Given the description of an element on the screen output the (x, y) to click on. 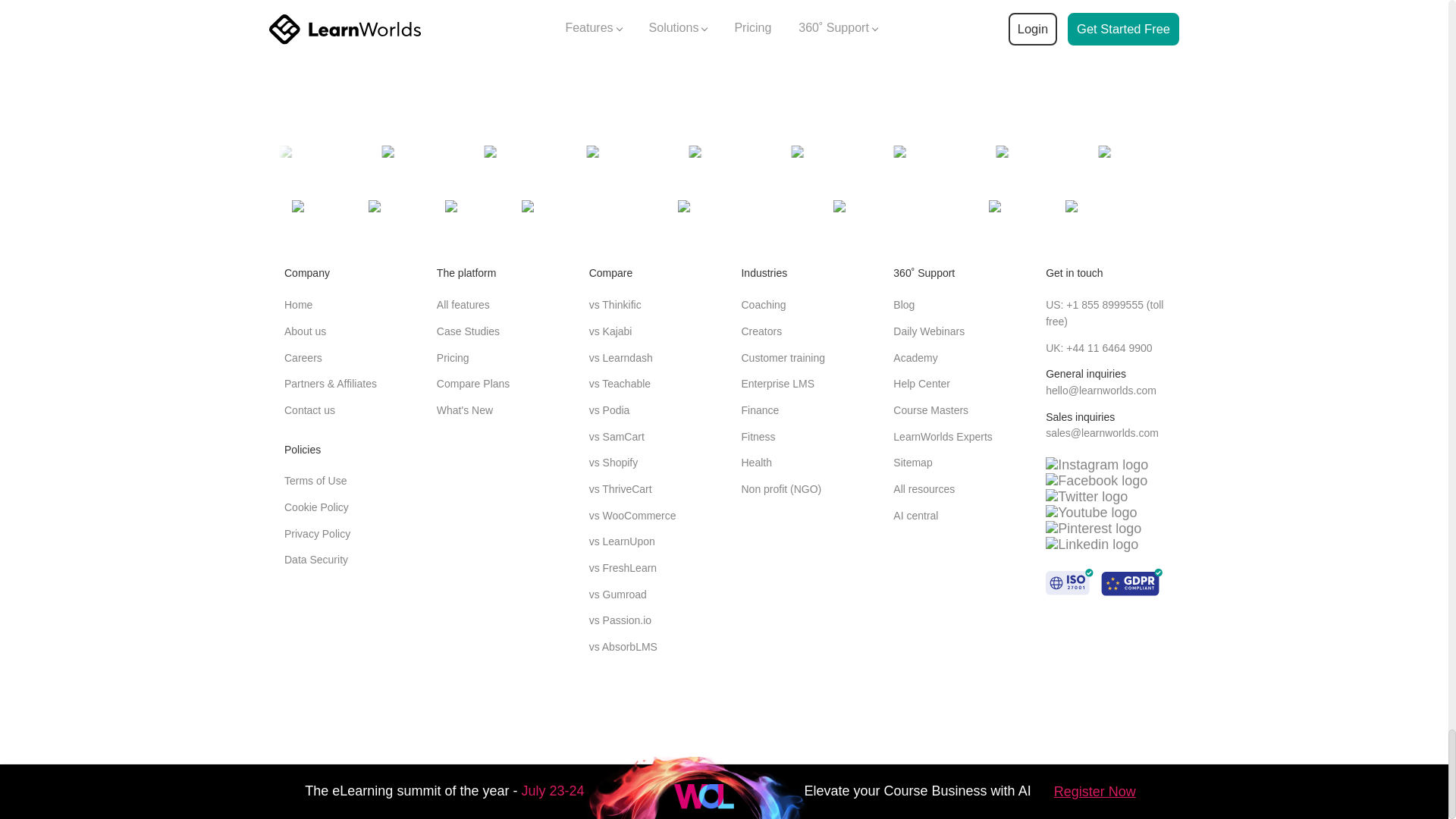
send email to LearnWorlds (1100, 390)
send email to LearnWorlds (1101, 432)
